Given the description of an element on the screen output the (x, y) to click on. 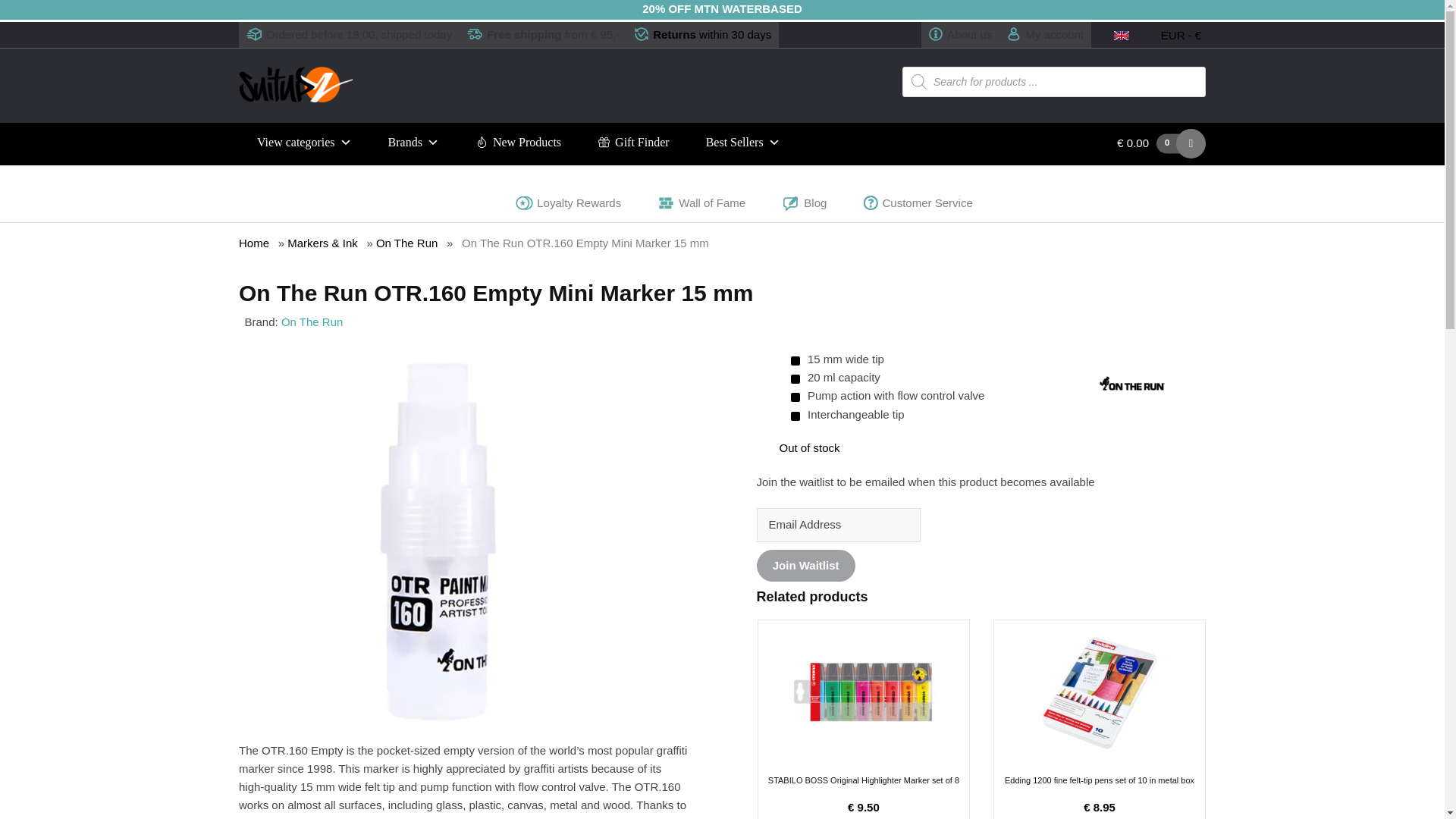
About us (959, 34)
View categories (303, 142)
My account (1044, 34)
Ordered before 18:00, shipped today (349, 34)
Returns within 30 days (702, 34)
View your shopping basket (1100, 142)
